Given the description of an element on the screen output the (x, y) to click on. 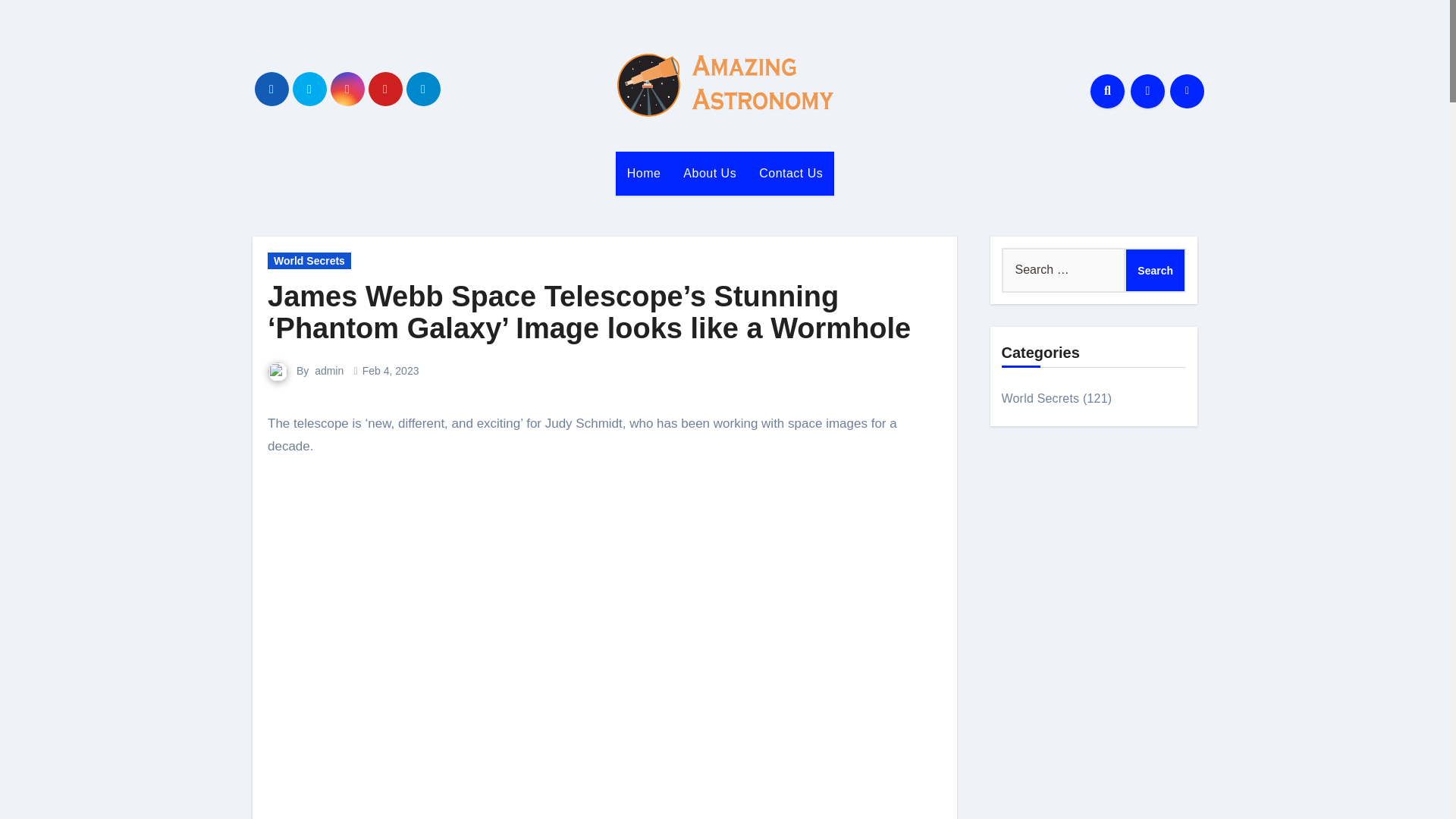
Advertisement (604, 780)
About Us (709, 173)
admin (328, 370)
World Secrets (308, 260)
Search (1155, 269)
Home (643, 173)
Search (1155, 269)
About Us (709, 173)
Contact Us (791, 173)
Home (643, 173)
Contact Us (791, 173)
